Given the description of an element on the screen output the (x, y) to click on. 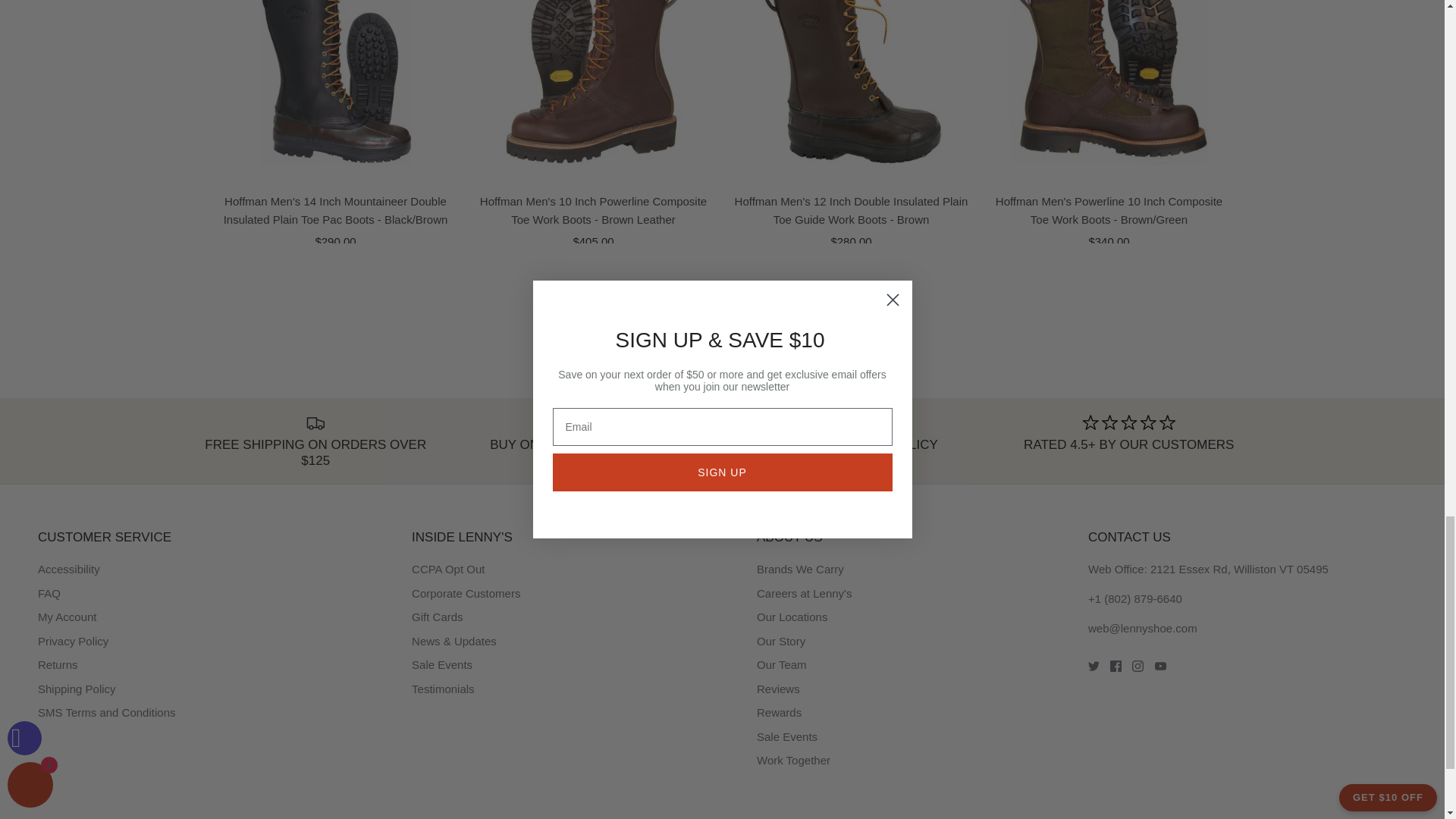
Twitter (1093, 665)
Facebook (1115, 665)
